Given the description of an element on the screen output the (x, y) to click on. 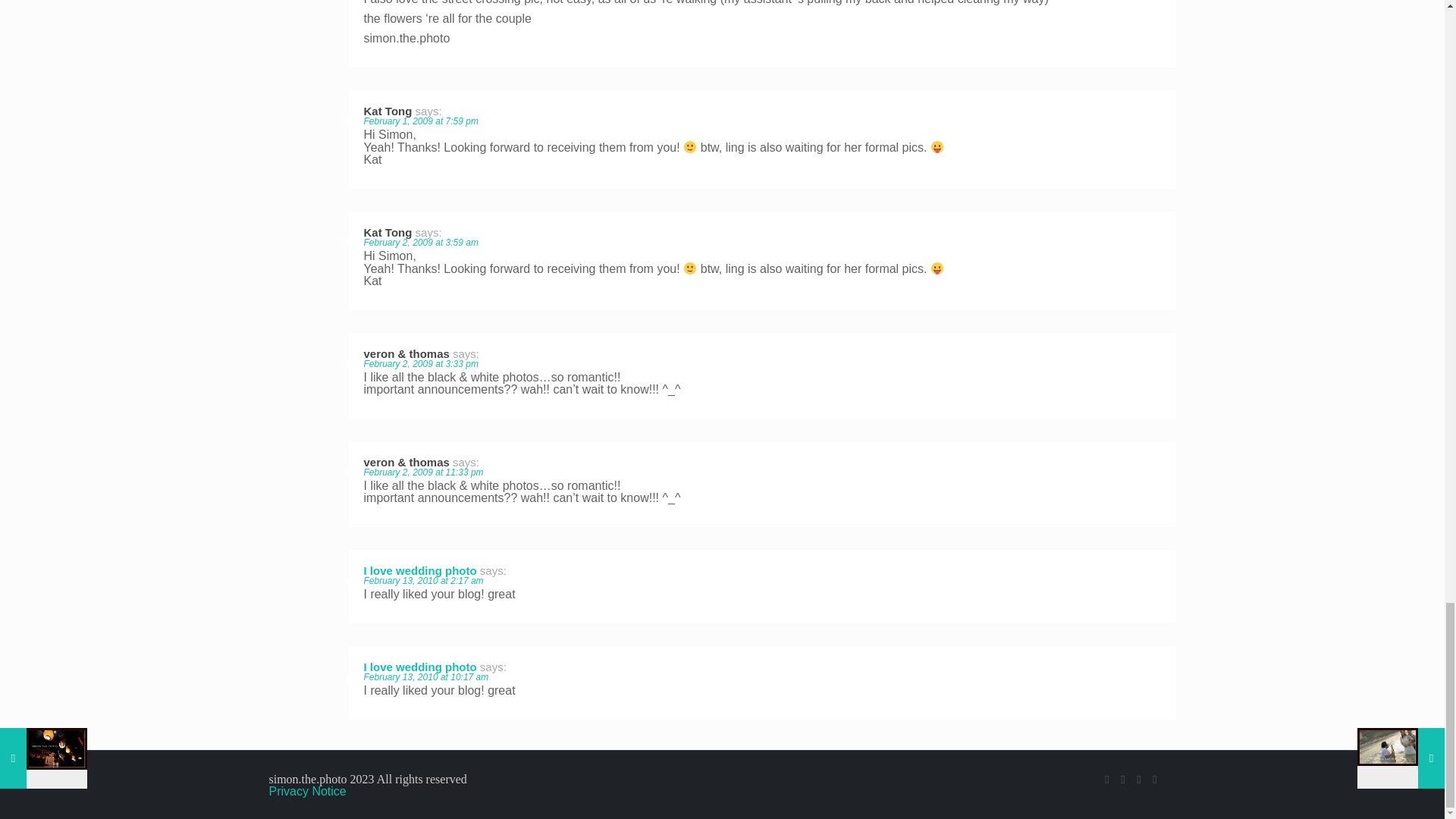
Facebook (1106, 779)
February 1, 2009 at 7:59 pm (421, 121)
YouTube (1123, 779)
